Given the description of an element on the screen output the (x, y) to click on. 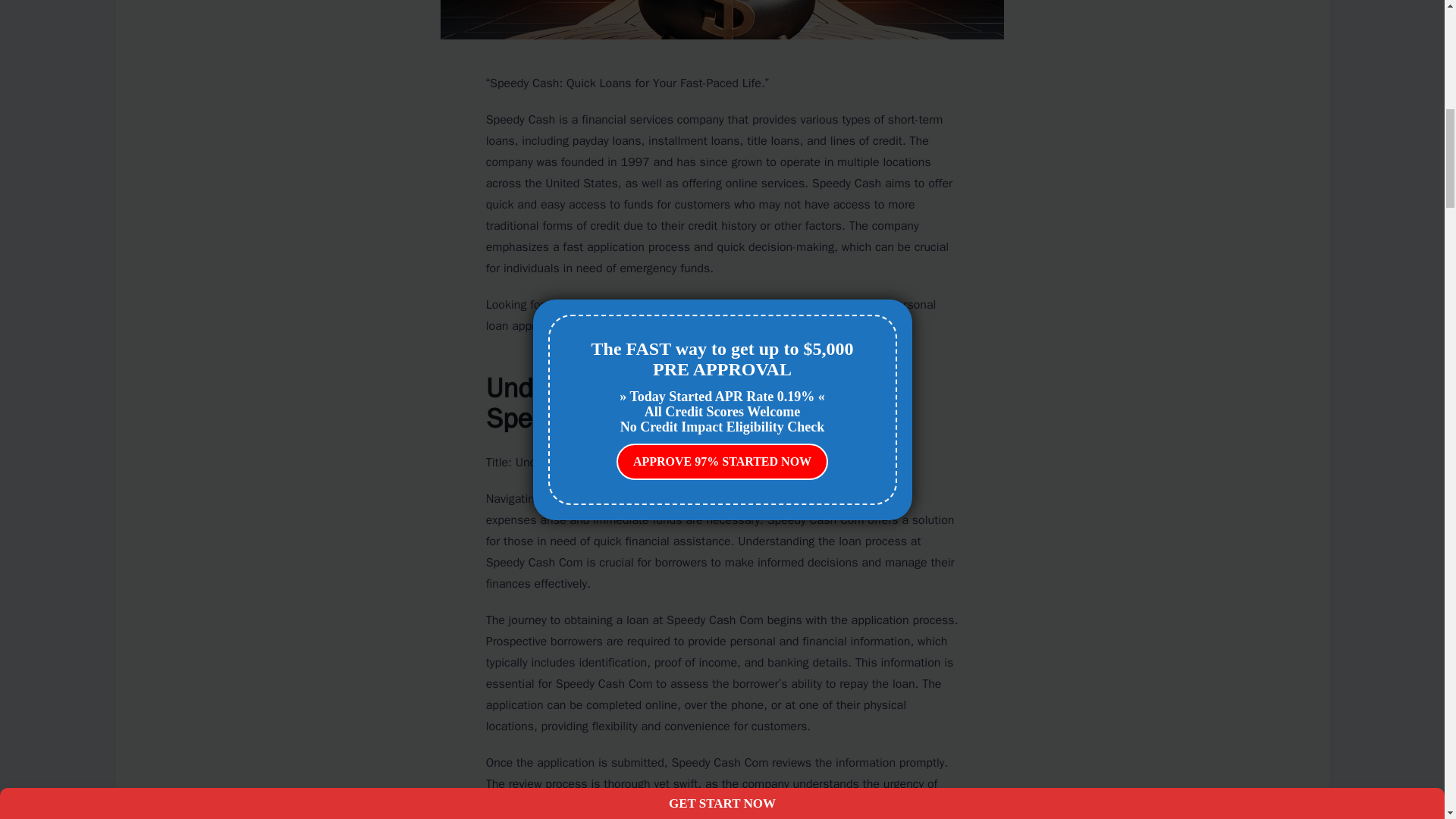
Get Your Personal Loan Now! (807, 325)
